Given the description of an element on the screen output the (x, y) to click on. 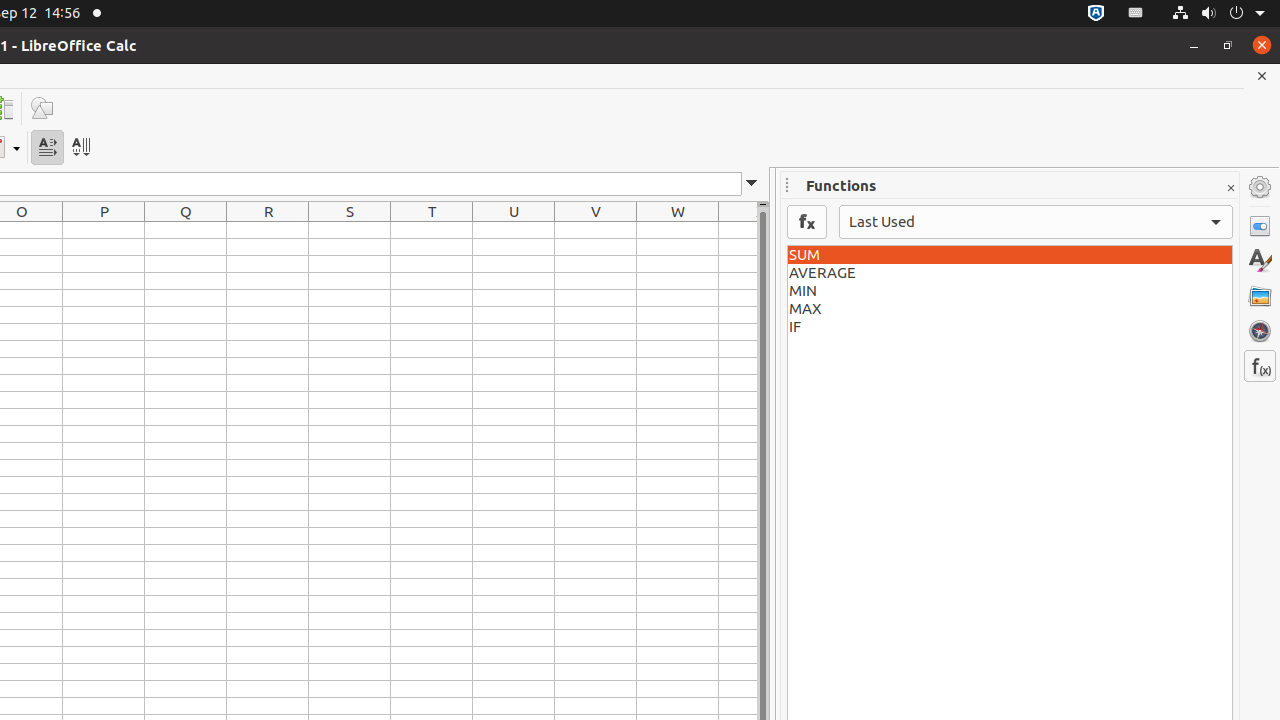
MAX Element type: list-item (1010, 309)
U1 Element type: table-cell (514, 230)
S1 Element type: table-cell (350, 230)
AVERAGE Element type: list-item (1010, 273)
Draw Functions Element type: toggle-button (41, 108)
